Given the description of an element on the screen output the (x, y) to click on. 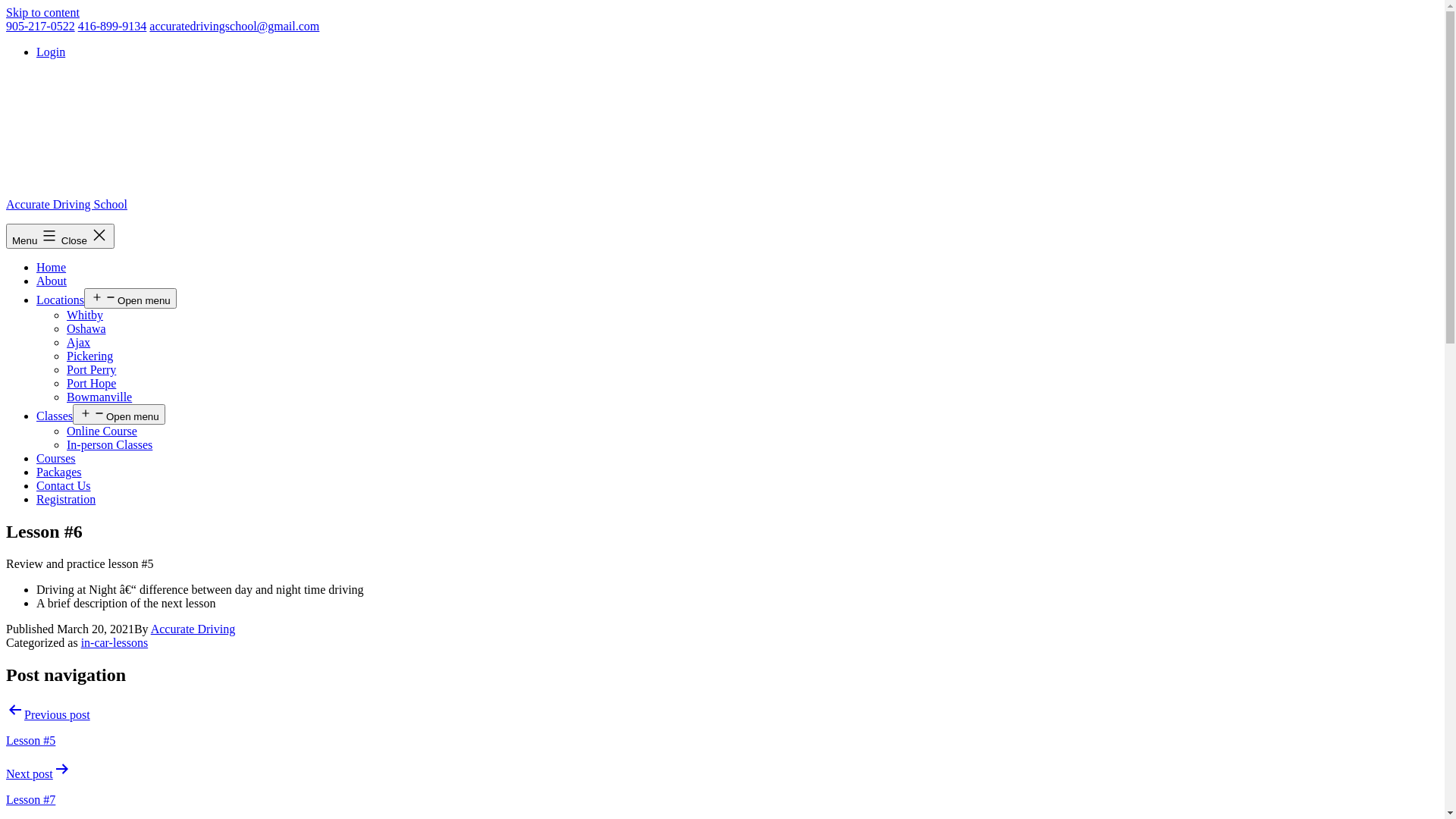
Open menu Element type: text (118, 414)
905-217-0522 Element type: text (40, 25)
Port Perry Element type: text (91, 369)
Previous post
Lesson #5 Element type: text (722, 723)
In-person Classes Element type: text (109, 444)
Classes Element type: text (54, 415)
Pickering Element type: text (89, 355)
Registration Element type: text (65, 498)
Accurate Driving School Element type: text (66, 203)
Packages Element type: text (58, 471)
Online Course Element type: text (101, 430)
Skip to content Element type: text (42, 12)
416-899-9134 Element type: text (112, 25)
Courses Element type: text (55, 457)
Bowmanville Element type: text (98, 396)
Port Hope Element type: text (91, 382)
About Element type: text (51, 280)
in-car-lessons Element type: text (114, 642)
Contact Us Element type: text (63, 485)
Home Element type: text (50, 266)
Ajax Element type: text (78, 341)
Whitby Element type: text (84, 314)
Login Element type: text (50, 51)
Next post
Lesson #7 Element type: text (722, 782)
Locations Element type: text (60, 299)
Open menu Element type: text (130, 298)
Menu Close Element type: text (60, 235)
accuratedrivingschool@gmail.com Element type: text (234, 25)
Oshawa Element type: text (86, 328)
Accurate Driving Element type: text (192, 628)
